Given the description of an element on the screen output the (x, y) to click on. 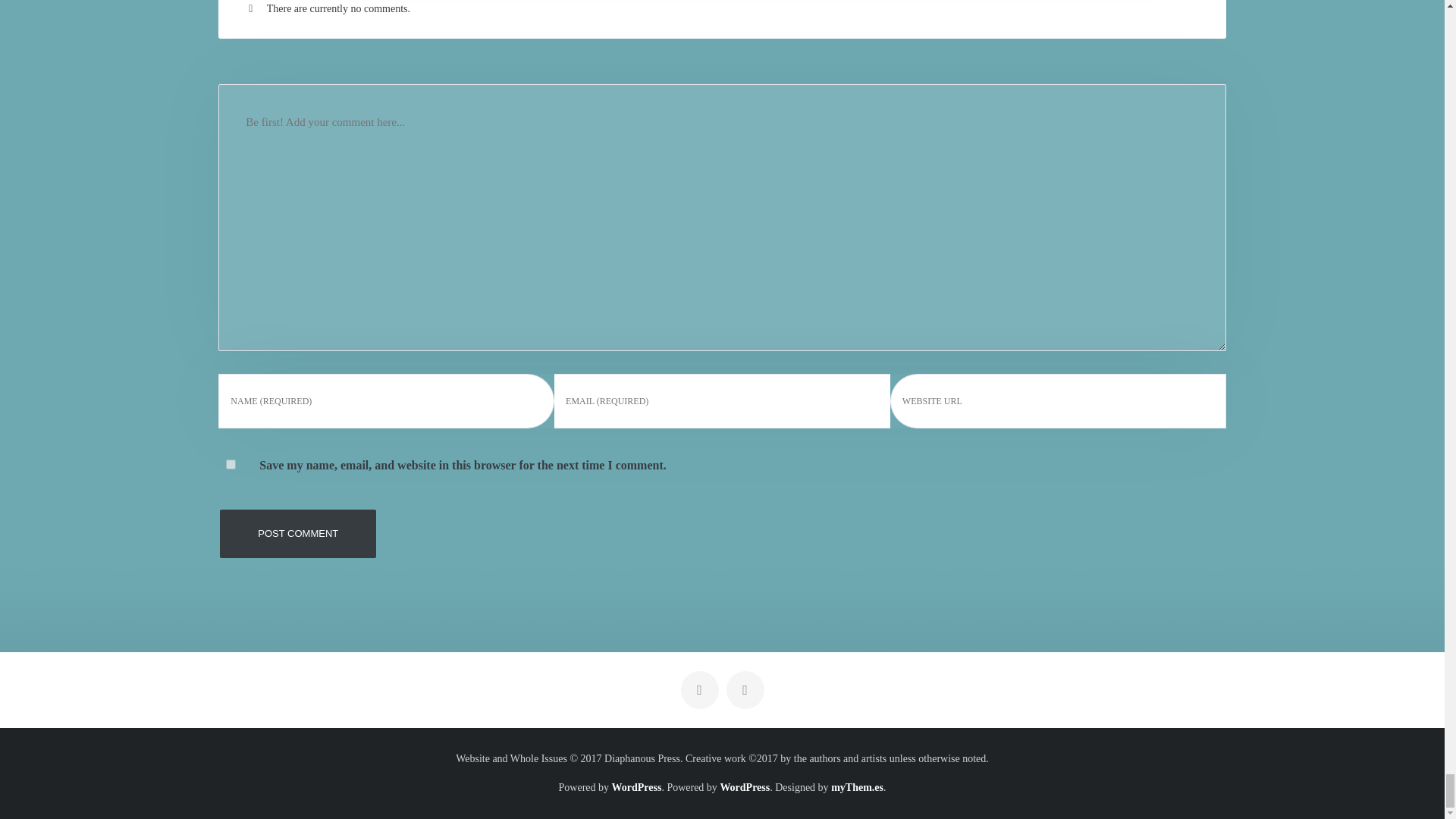
Post Comment (297, 533)
myThem.es (857, 787)
yes (230, 464)
